Given the description of an element on the screen output the (x, y) to click on. 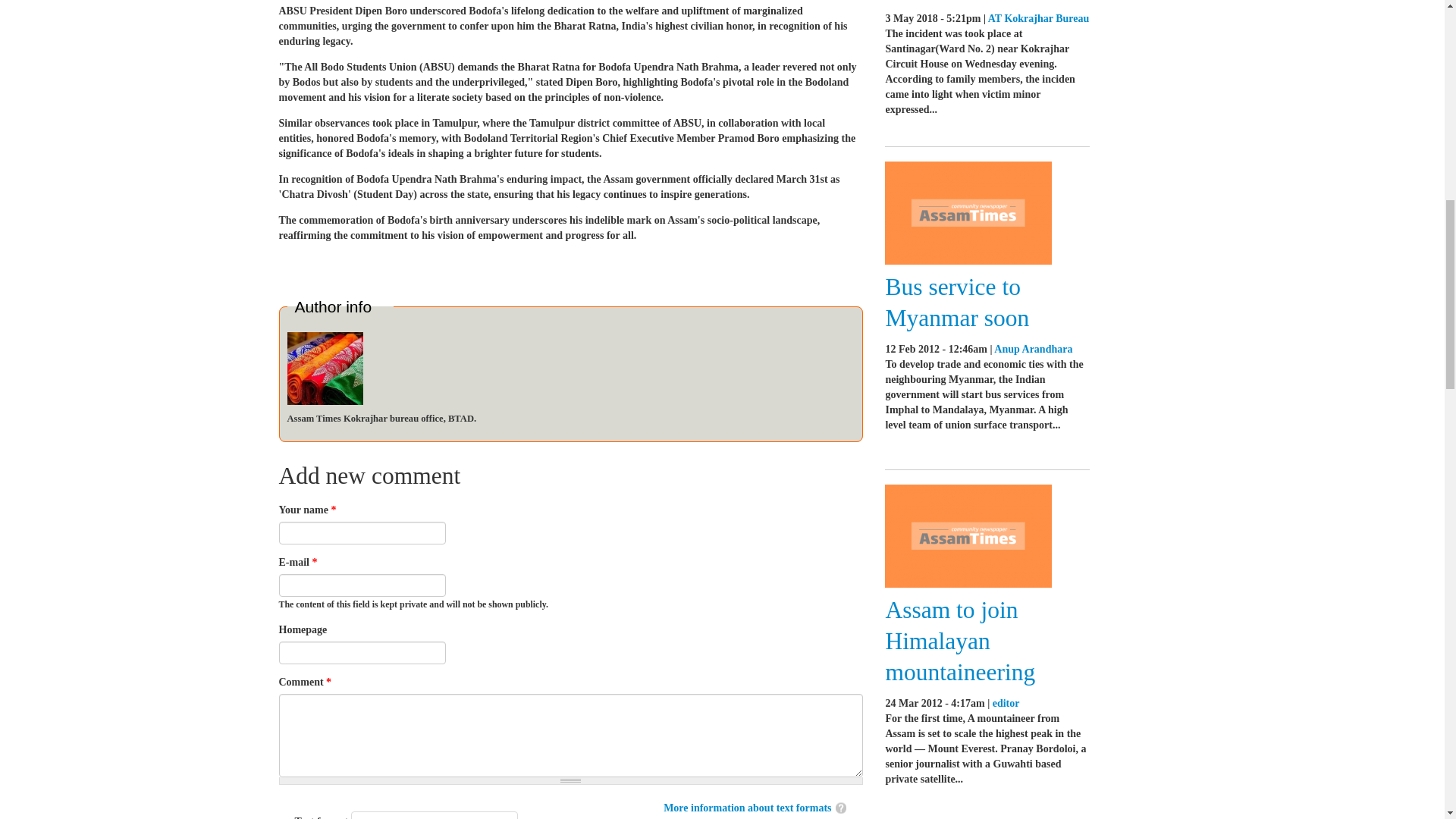
AT Kokrajhar Bureau's picture (324, 368)
Rape accused arrested (949, 0)
View user profile. (324, 367)
More information about text formats (746, 808)
Assam to join Himalayan mountaineering (960, 641)
editor (1006, 703)
View user profile. (1006, 703)
Bus service to Myanmar soon (957, 302)
View user profile. (1032, 348)
Anup Arandhara (1032, 348)
AT Kokrajhar Bureau (1038, 18)
View user profile. (1038, 18)
